Given the description of an element on the screen output the (x, y) to click on. 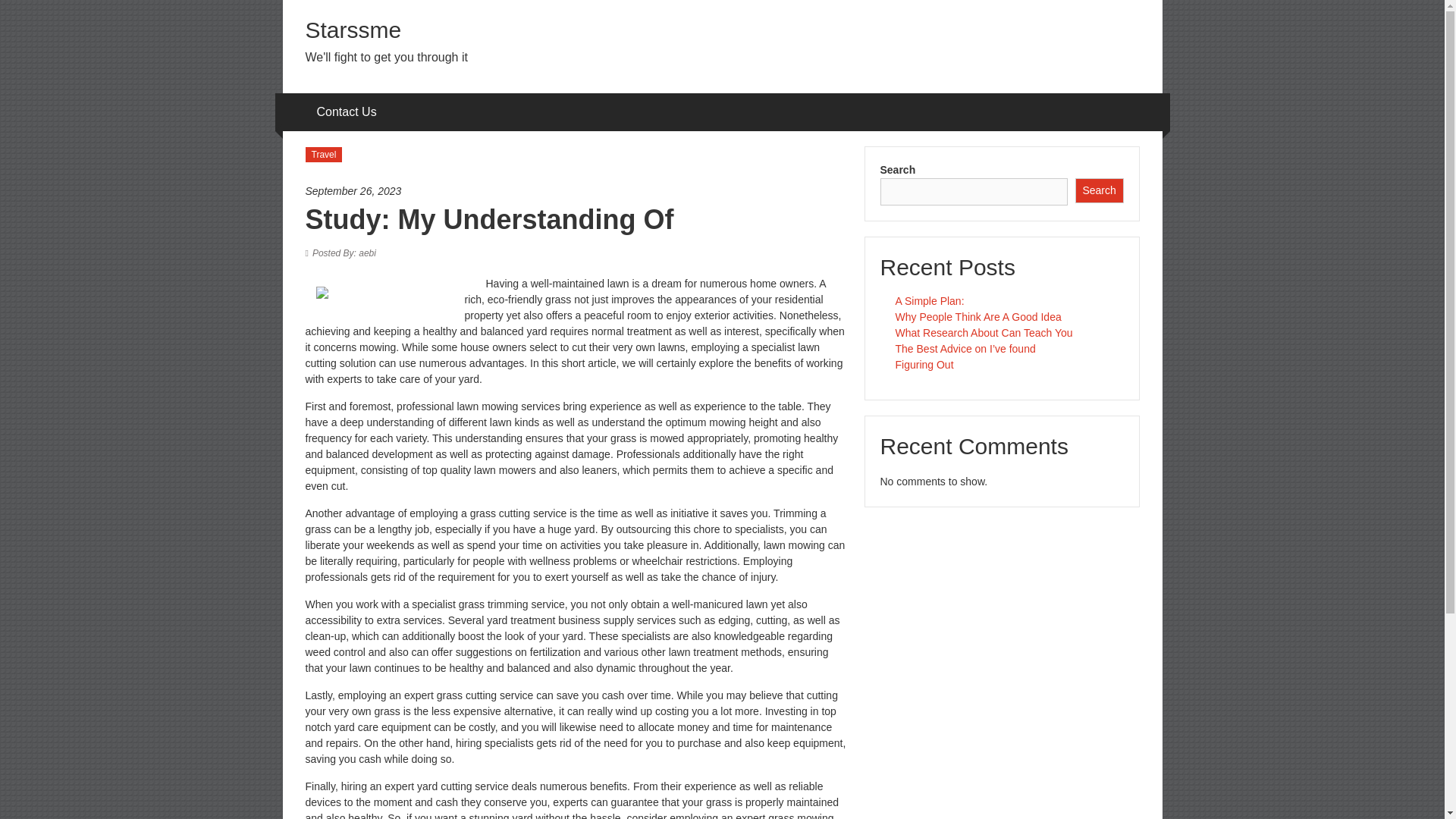
A Simple Plan: (929, 300)
Contact Us (347, 112)
What Research About Can Teach You (983, 332)
Starssme (352, 29)
Travel (323, 154)
aebi (344, 253)
Search (1099, 190)
Starssme (352, 29)
Figuring Out (924, 364)
Why People Think Are A Good Idea (978, 316)
12:17 pm (575, 191)
September 26, 2023 (575, 191)
Posted By: aebi (344, 253)
